Given the description of an element on the screen output the (x, y) to click on. 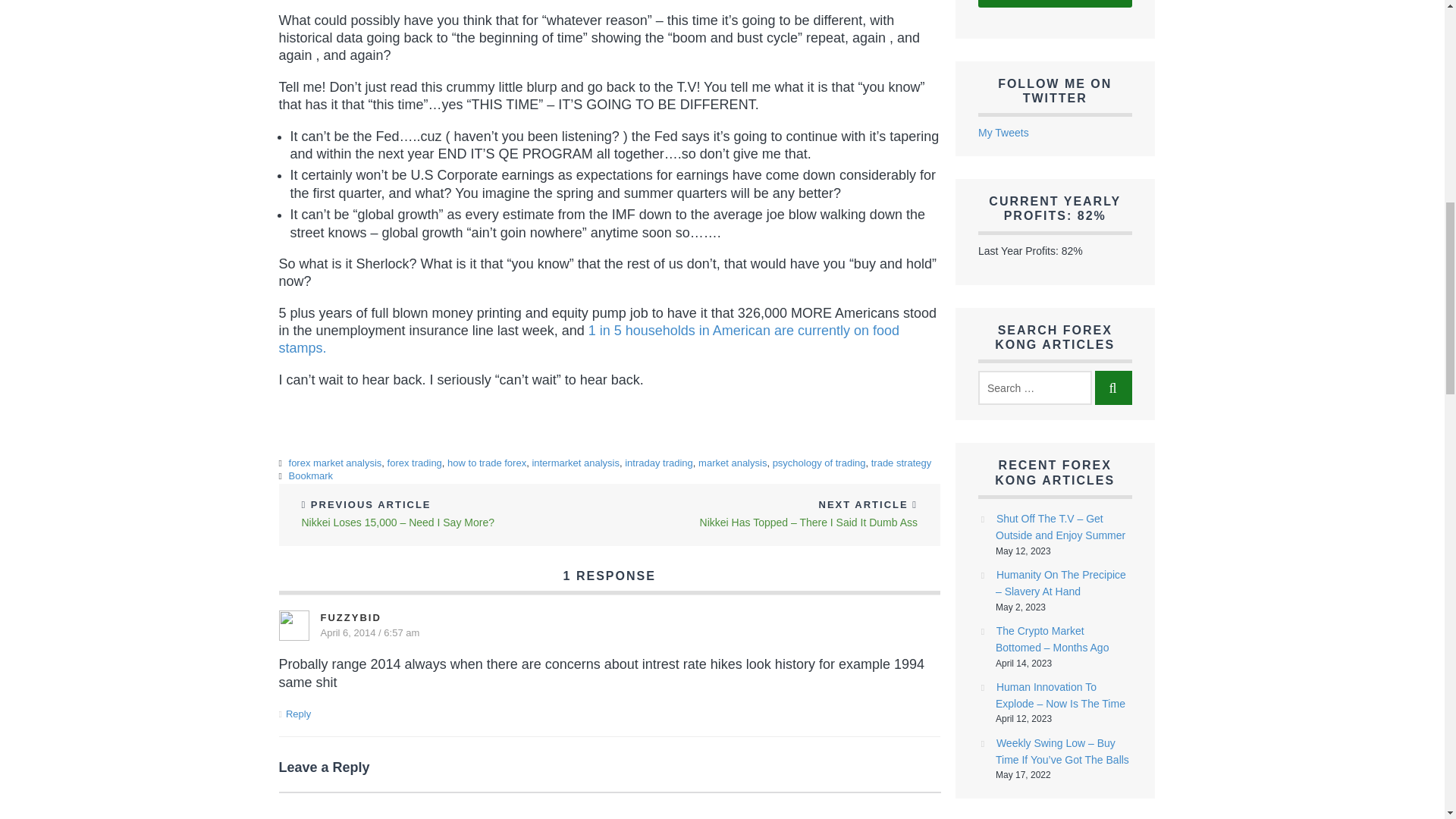
trade strategy (900, 462)
intraday trading (658, 462)
Reply (298, 713)
My Tweets (1003, 132)
psychology of trading (819, 462)
Comment Form (609, 805)
Sign Me Up! (1055, 3)
1 in 5 households in American are currently on food stamps. (589, 338)
Sign Me Up! (1055, 3)
Bookmark (310, 475)
